Given the description of an element on the screen output the (x, y) to click on. 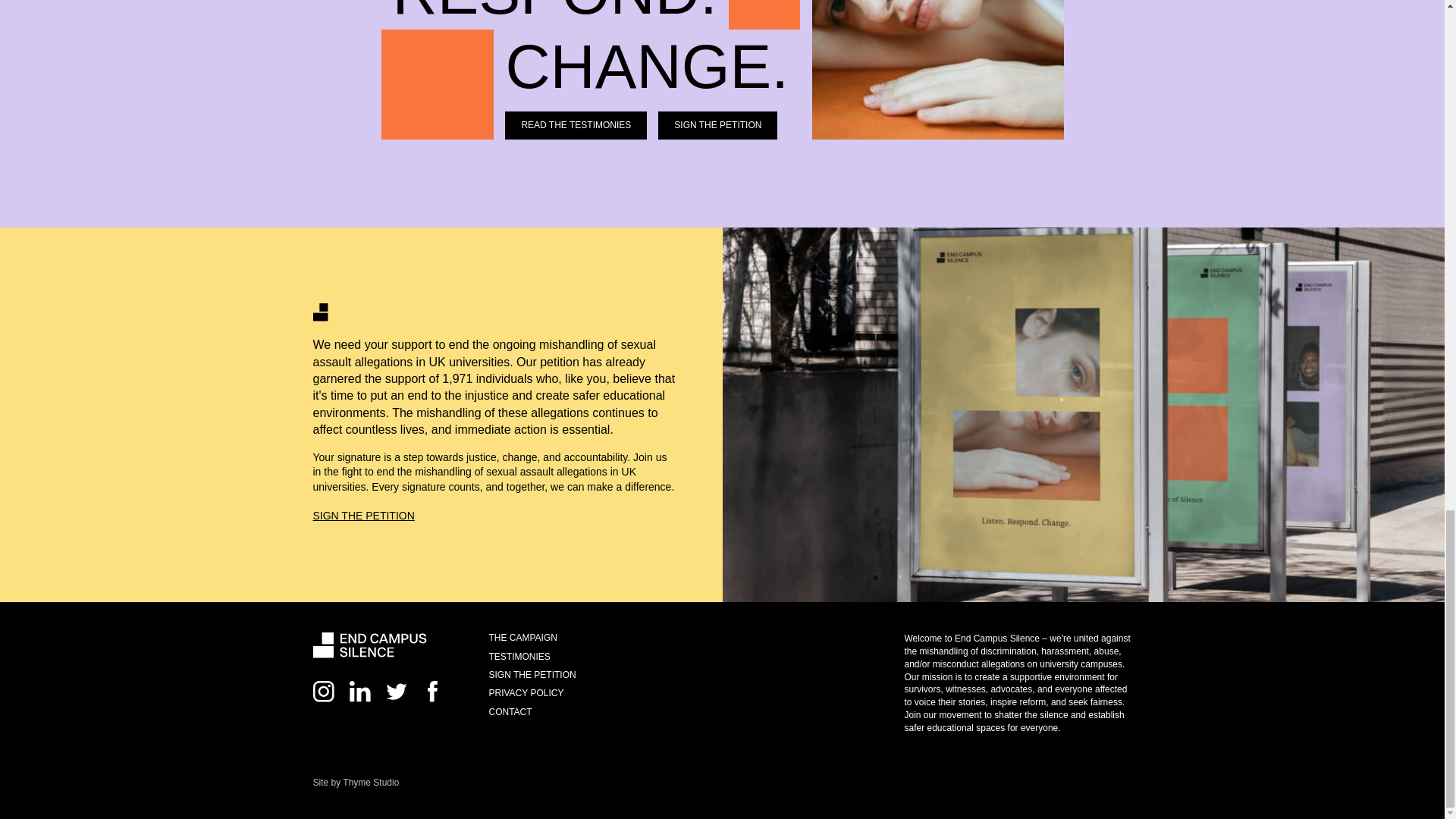
READ THE TESTIMONIES (575, 124)
Site by Thyme Studio (355, 782)
THE CAMPAIGN (521, 637)
PRIVACY POLICY (525, 692)
CONTACT (509, 711)
SIGN THE PETITION (531, 674)
SIGN THE PETITION (717, 124)
TESTIMONIES (518, 655)
SIGN THE PETITION (363, 516)
